Given the description of an element on the screen output the (x, y) to click on. 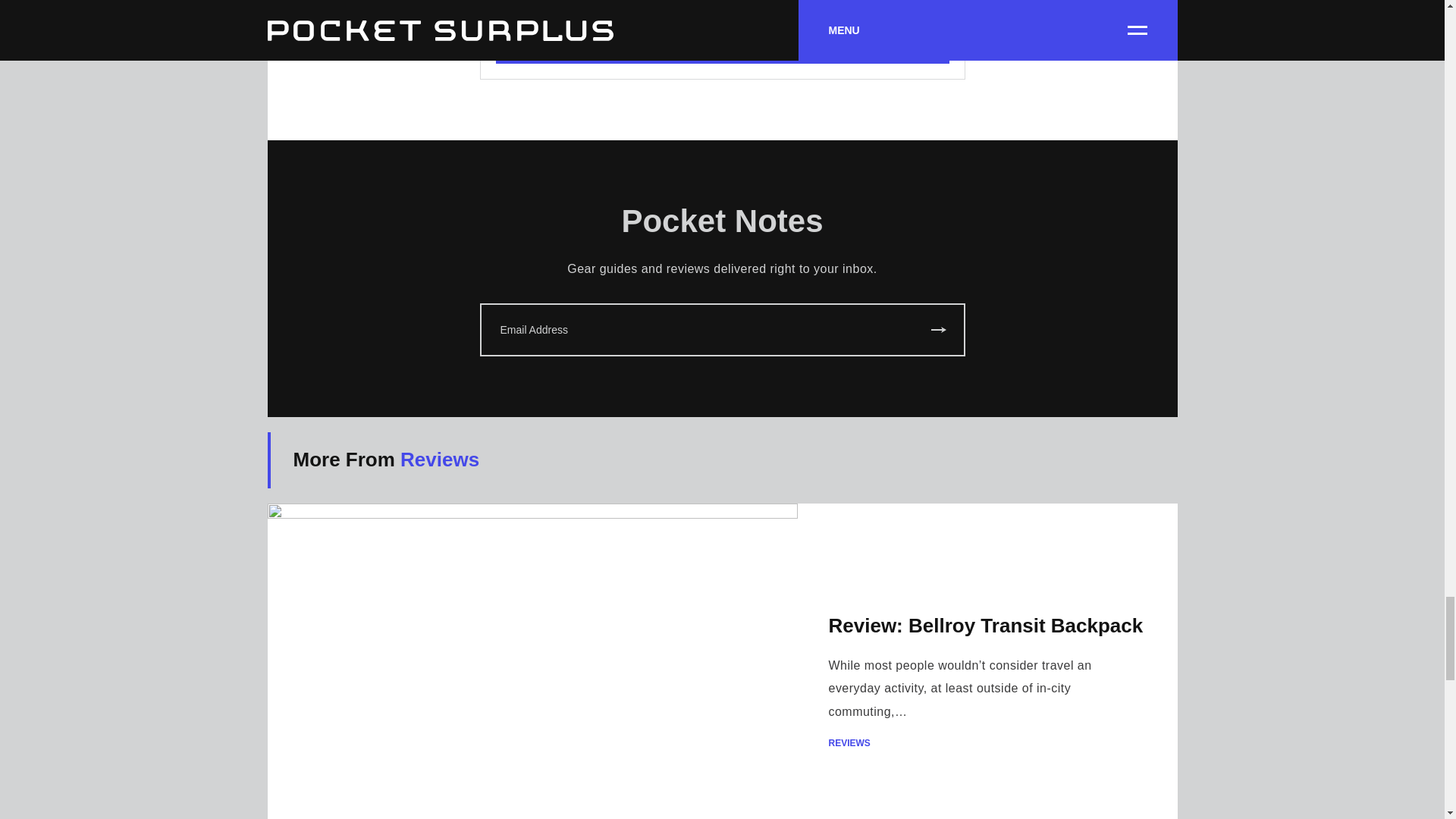
Reviews (439, 458)
Review: Bellroy Transit Backpack (985, 625)
REVIEWS (987, 742)
